Given the description of an element on the screen output the (x, y) to click on. 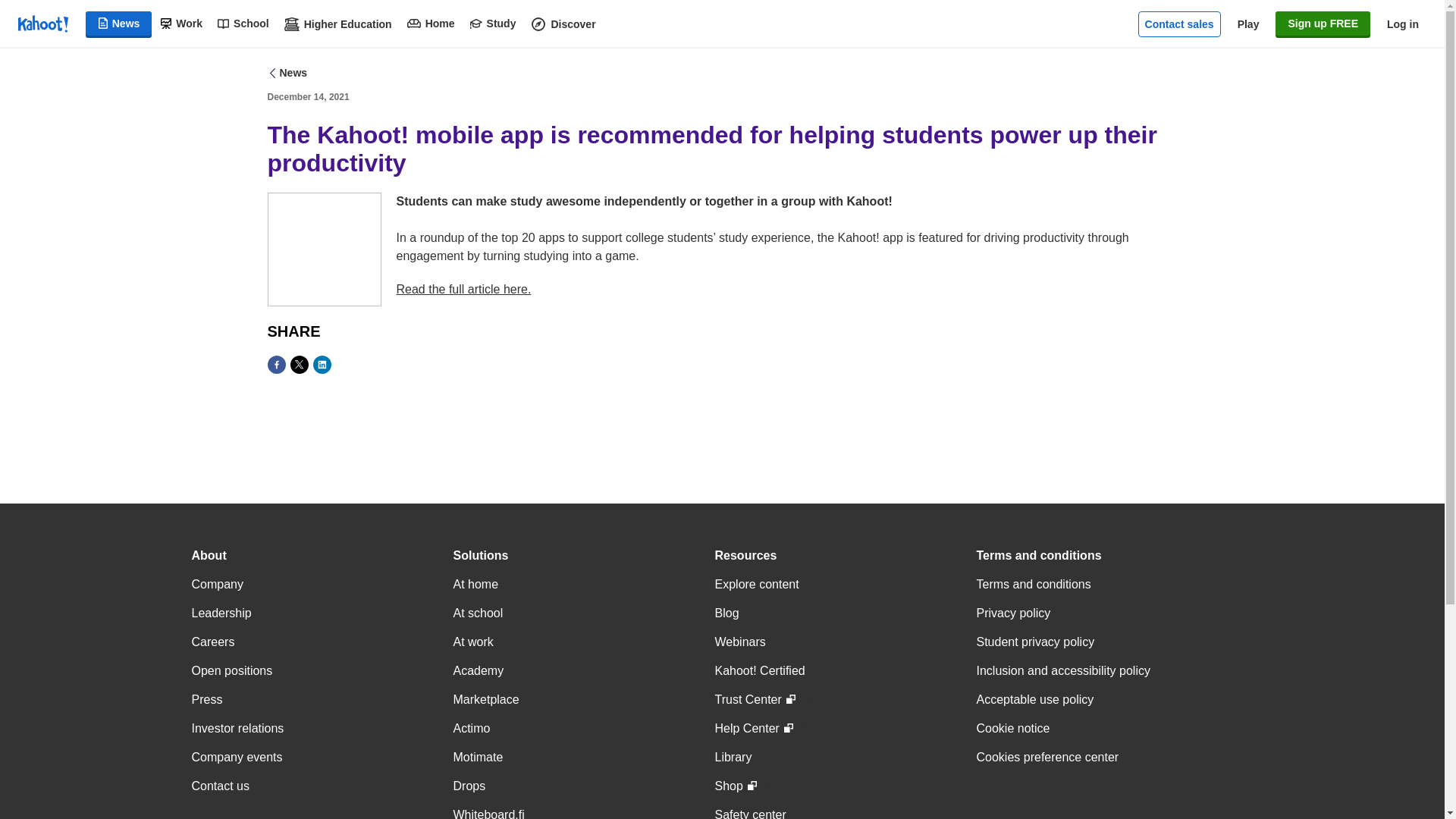
Higher Education (337, 23)
News (118, 23)
School (243, 23)
Play (1248, 24)
Link to kahoot.com homepage (42, 24)
Work (181, 23)
Contact sales (1179, 23)
Home (431, 23)
Log in (1402, 24)
